Given the description of an element on the screen output the (x, y) to click on. 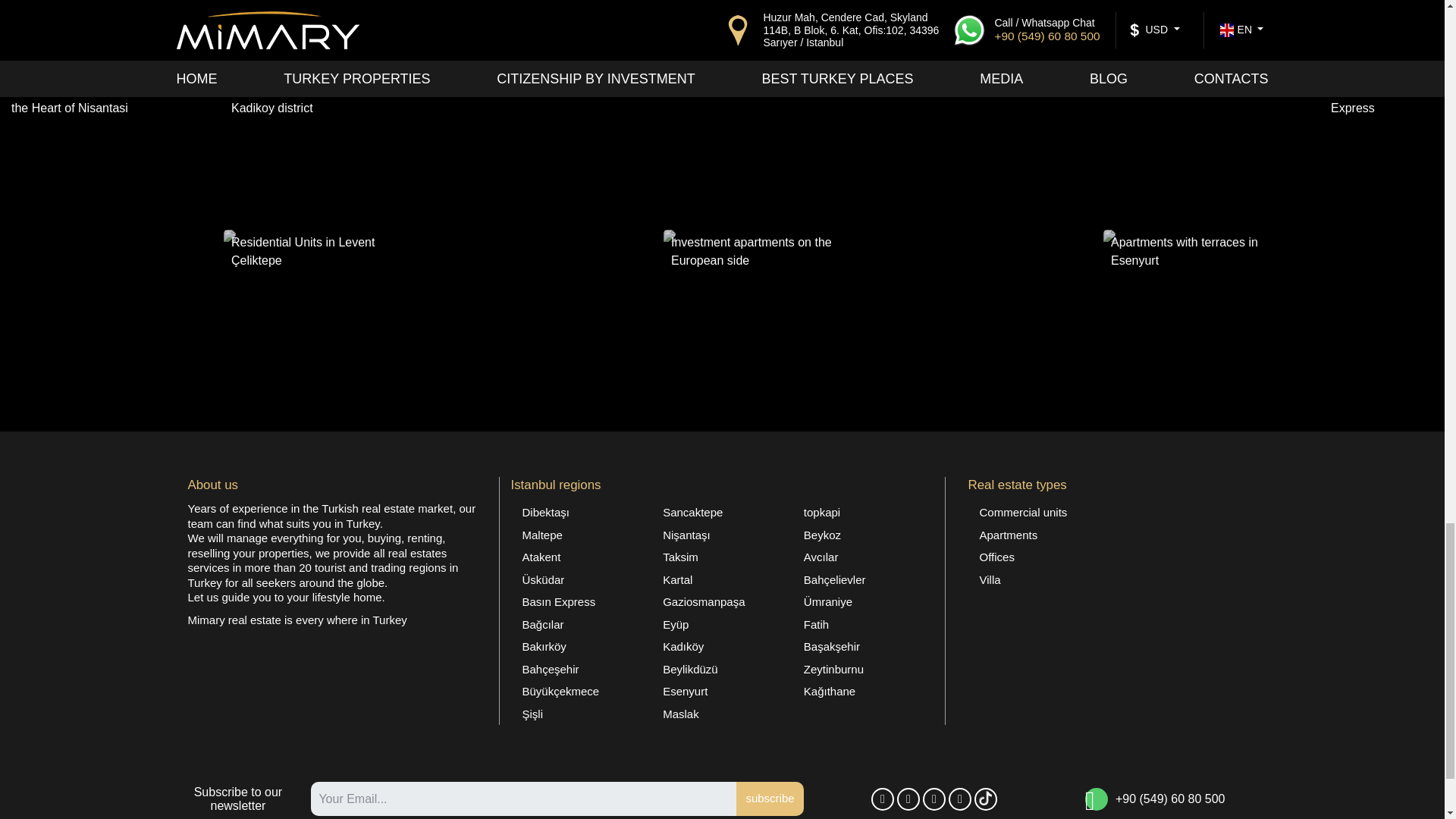
Investment apartments on the European side (769, 301)
Exquisite apartments among Kadikoy district (329, 148)
Piazza Park (550, 225)
Taksim (721, 557)
Beykoz (862, 535)
Fatih (862, 624)
Esenyurt Time squire (769, 148)
Sancaktepe (721, 512)
Maltepe (581, 535)
Atakent (581, 557)
topkapi (862, 512)
Kartal (721, 579)
